Given the description of an element on the screen output the (x, y) to click on. 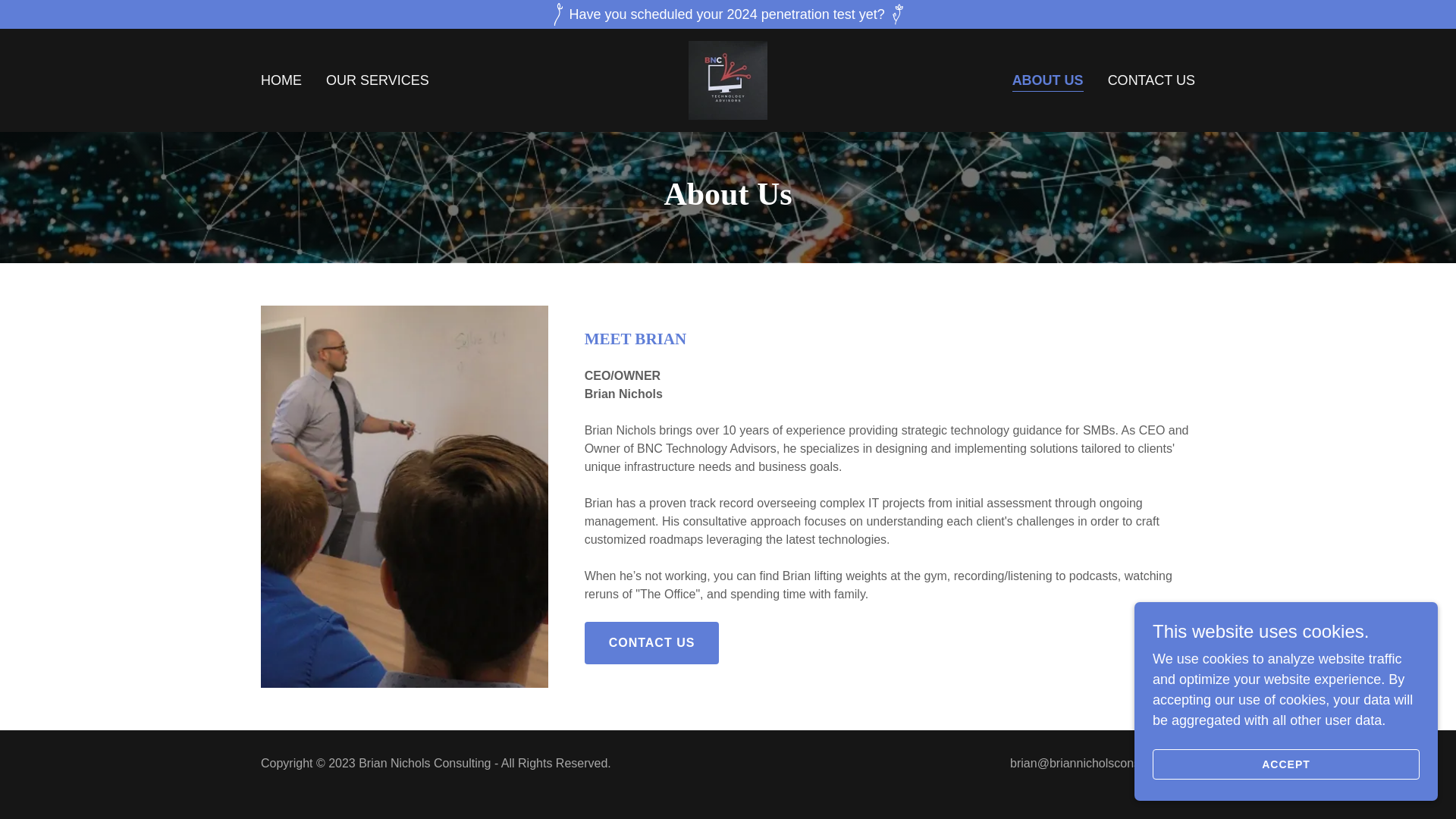
HOME (280, 80)
ACCEPT (1286, 764)
OUR SERVICES (377, 80)
CONTACT US (652, 642)
Brian Nichols Consulting (727, 79)
CONTACT US (1151, 80)
ABOUT US (1047, 81)
